Given the description of an element on the screen output the (x, y) to click on. 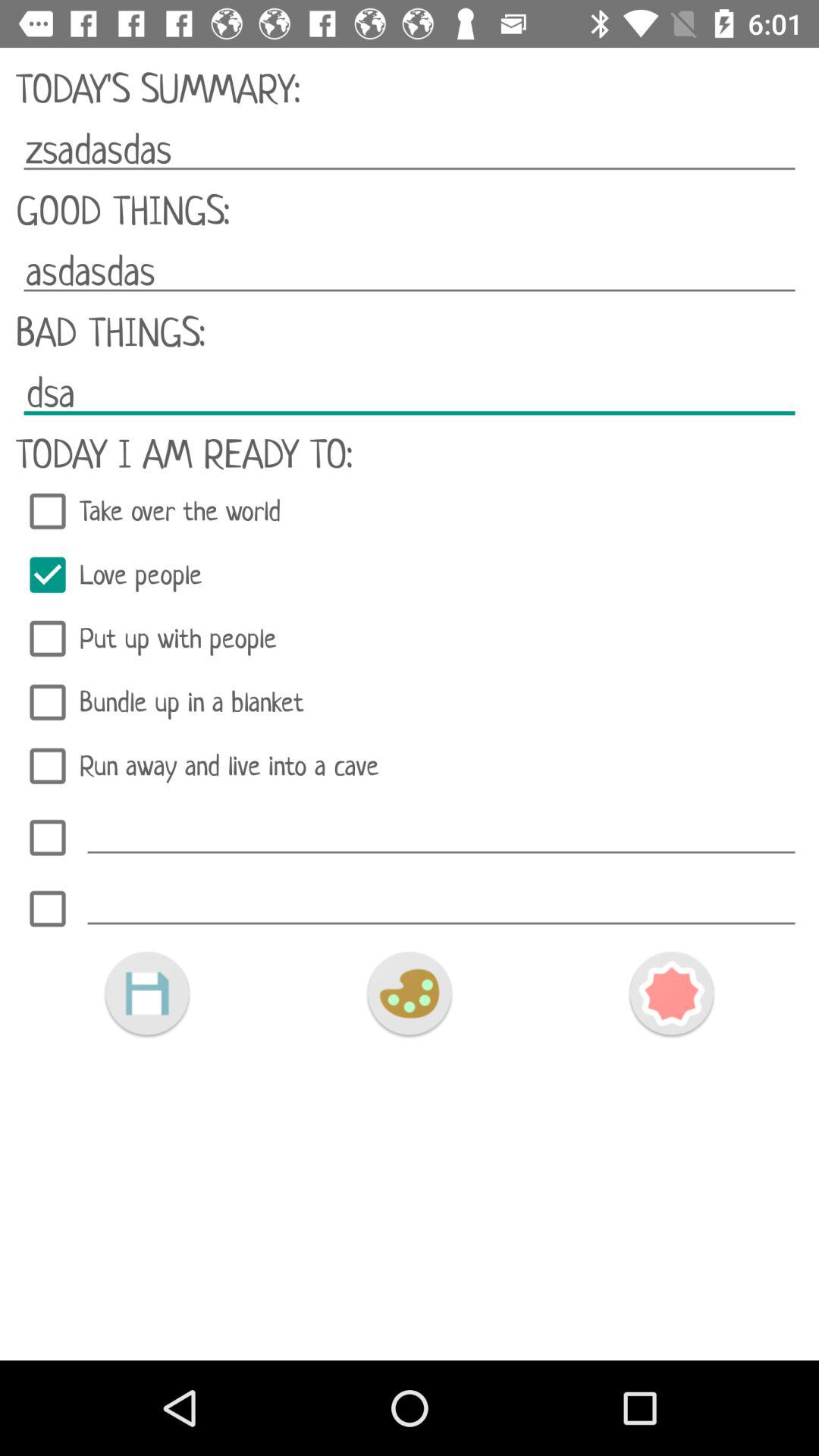
add text (441, 904)
